Given the description of an element on the screen output the (x, y) to click on. 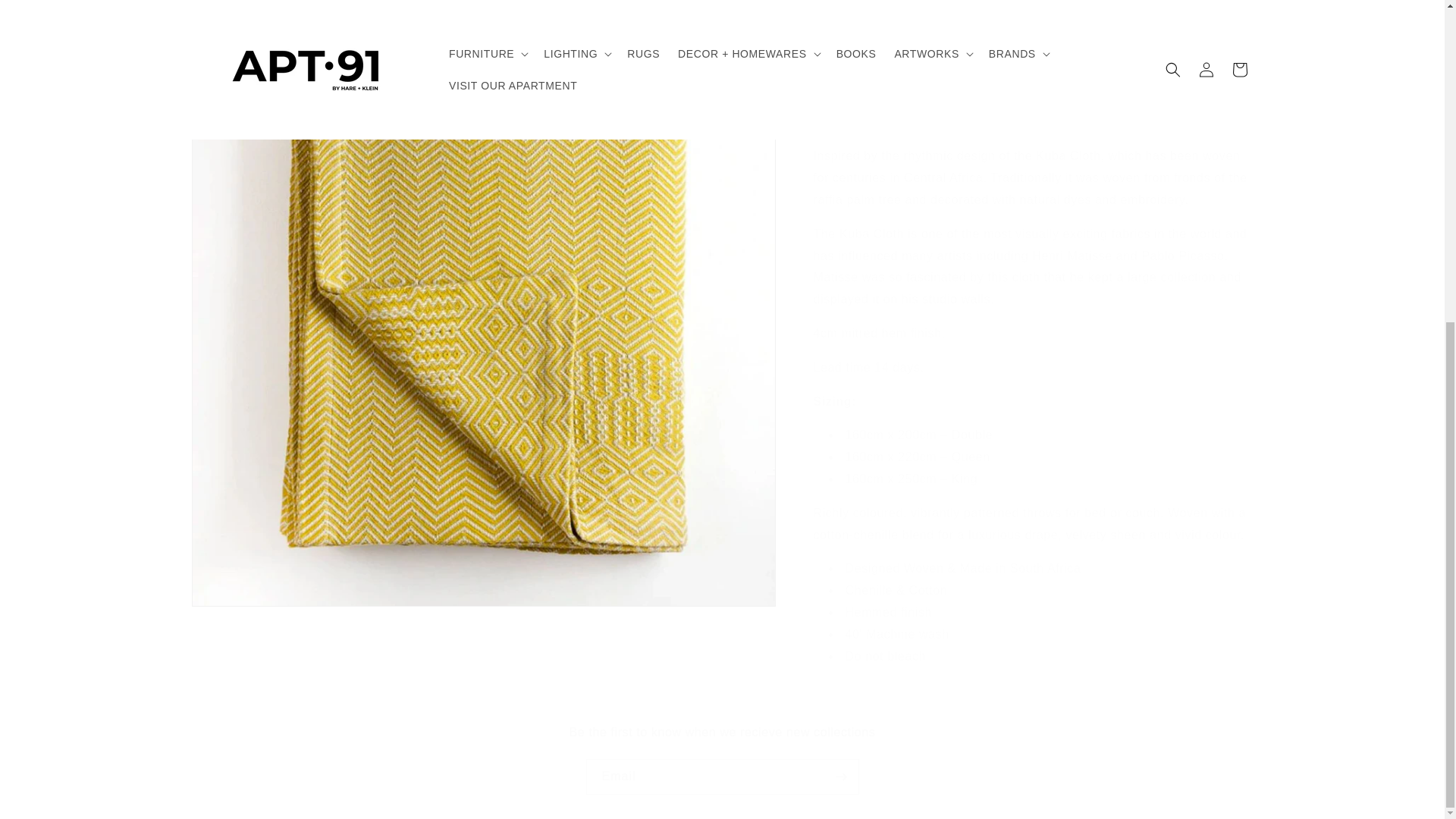
Be the first to know when we recieve new collections (722, 732)
Email (722, 776)
Open media 1 in modal (482, 113)
